Given the description of an element on the screen output the (x, y) to click on. 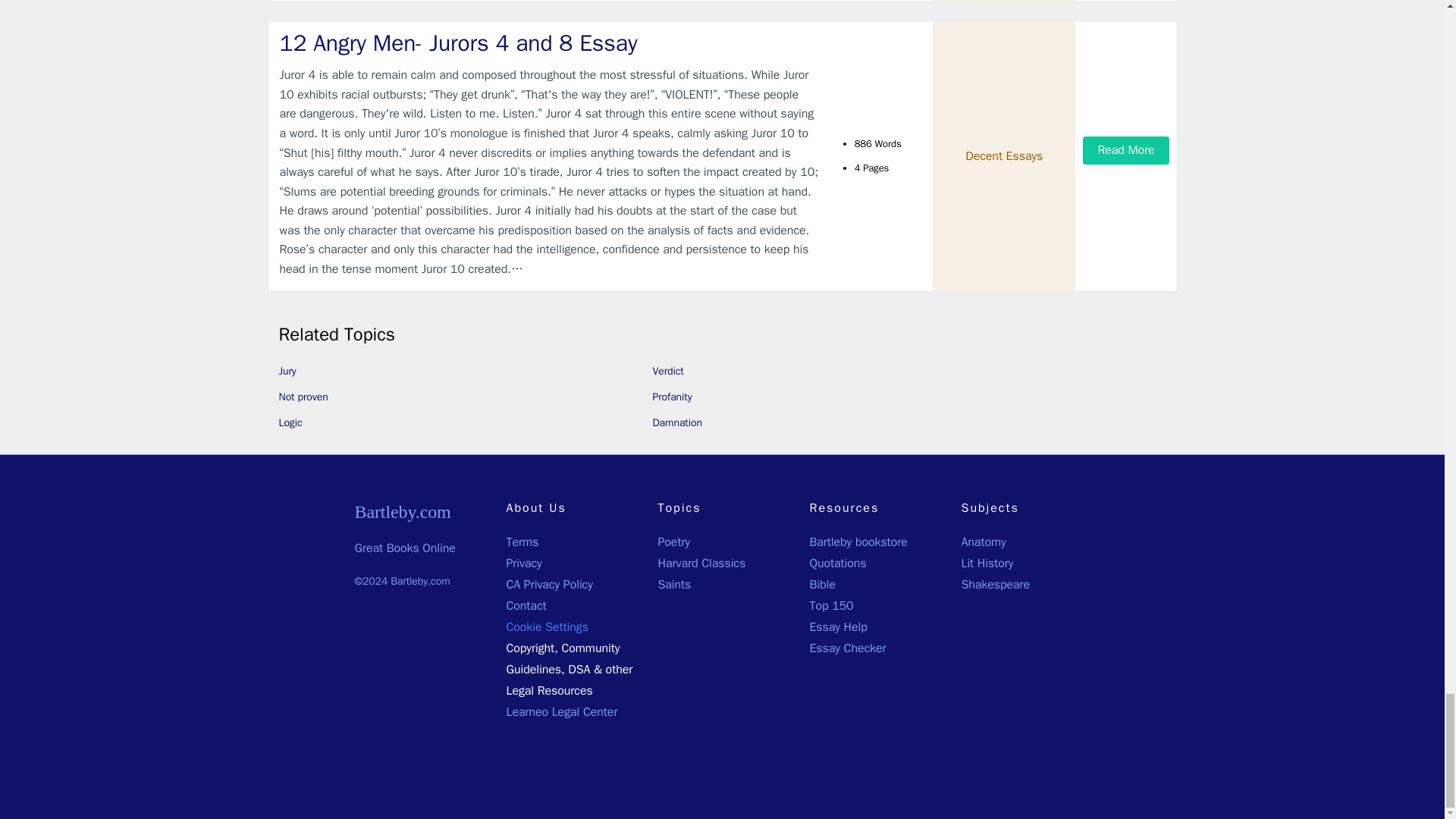
Verdict (667, 370)
Jury (288, 370)
Logic (290, 422)
Not proven (304, 396)
Damnation (676, 422)
Profanity (671, 396)
